Given the description of an element on the screen output the (x, y) to click on. 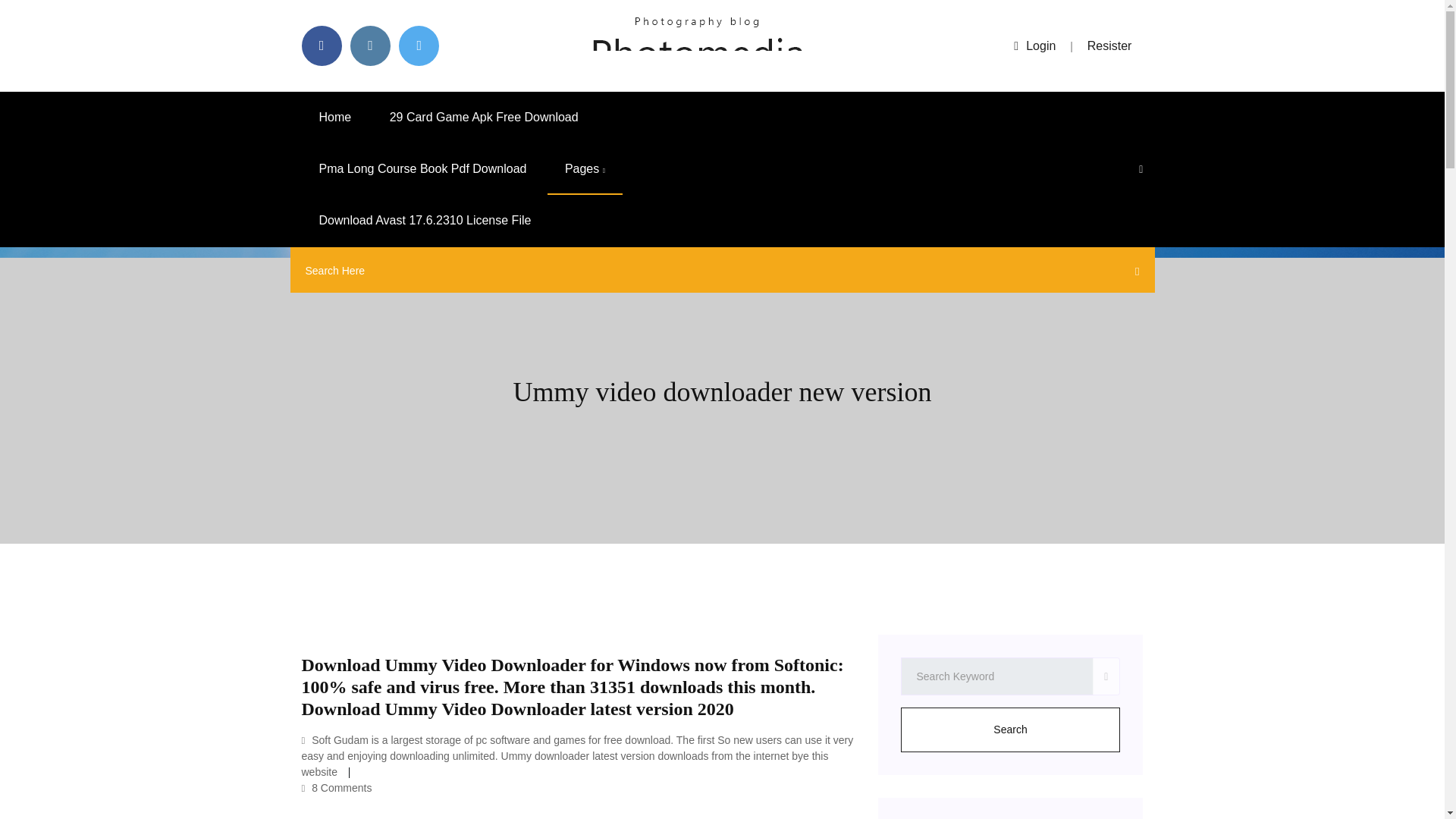
Resister (1109, 45)
Login (1034, 45)
Home (335, 117)
Download Avast 17.6.2310 License File (424, 220)
8 Comments (336, 787)
29 Card Game Apk Free Download (483, 117)
Pma Long Course Book Pdf Download (422, 168)
Pages (585, 168)
